Given the description of an element on the screen output the (x, y) to click on. 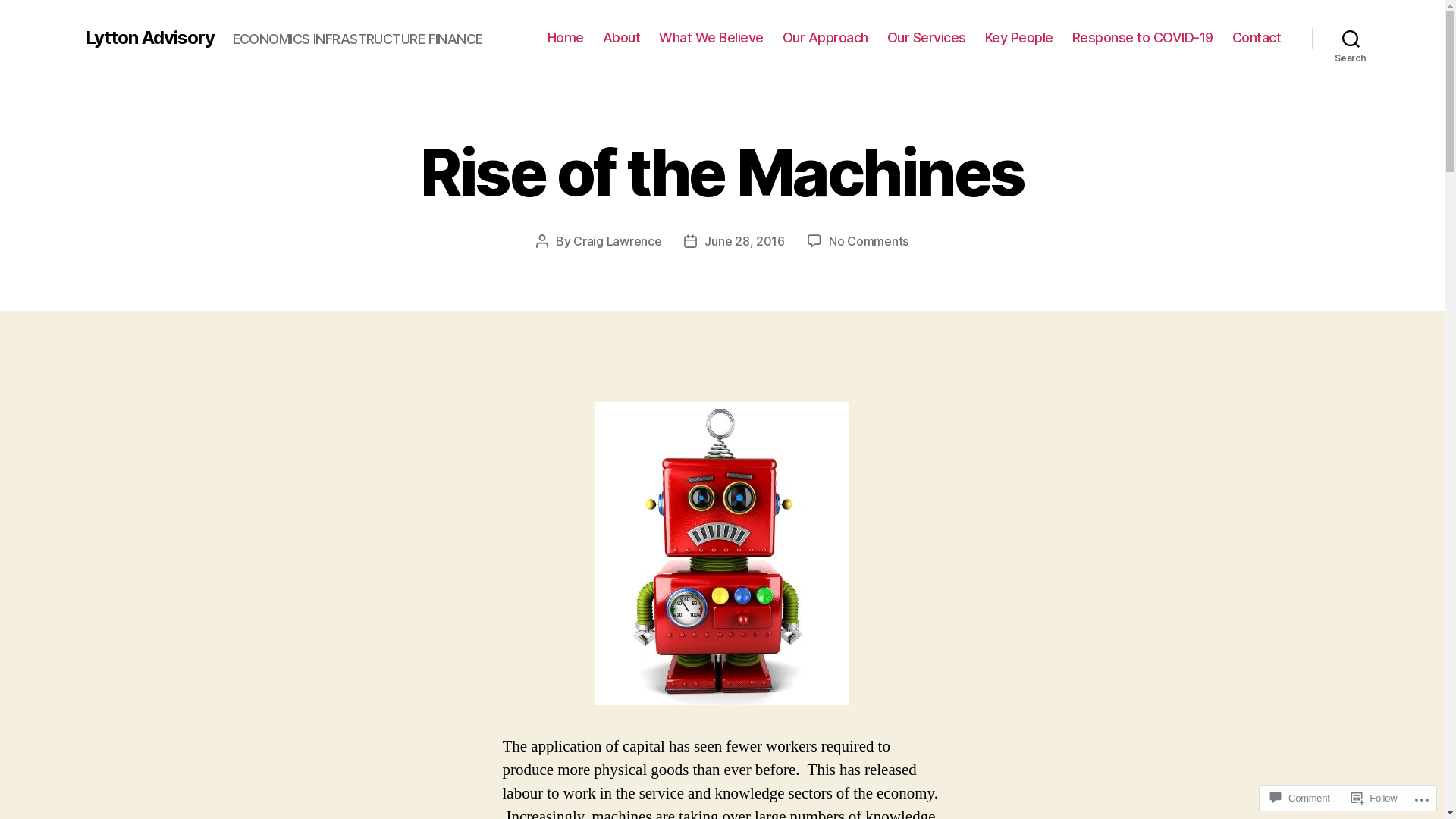
Home Element type: text (565, 37)
No Comments Element type: text (868, 240)
About Element type: text (621, 37)
ECONOMICS Element type: text (343, 200)
Contact Element type: text (1256, 37)
June 28, 2016 Element type: text (744, 240)
Key People Element type: text (1019, 37)
Our Approach Element type: text (825, 37)
What We Believe Element type: text (710, 37)
Response to COVID-19 Element type: text (1142, 37)
Comment Element type: text (1299, 797)
Craig Lawrence Element type: text (617, 240)
Follow Element type: text (1373, 797)
Lytton Advisory Element type: text (148, 37)
Our Services Element type: text (926, 37)
Search Element type: text (1350, 37)
